Given the description of an element on the screen output the (x, y) to click on. 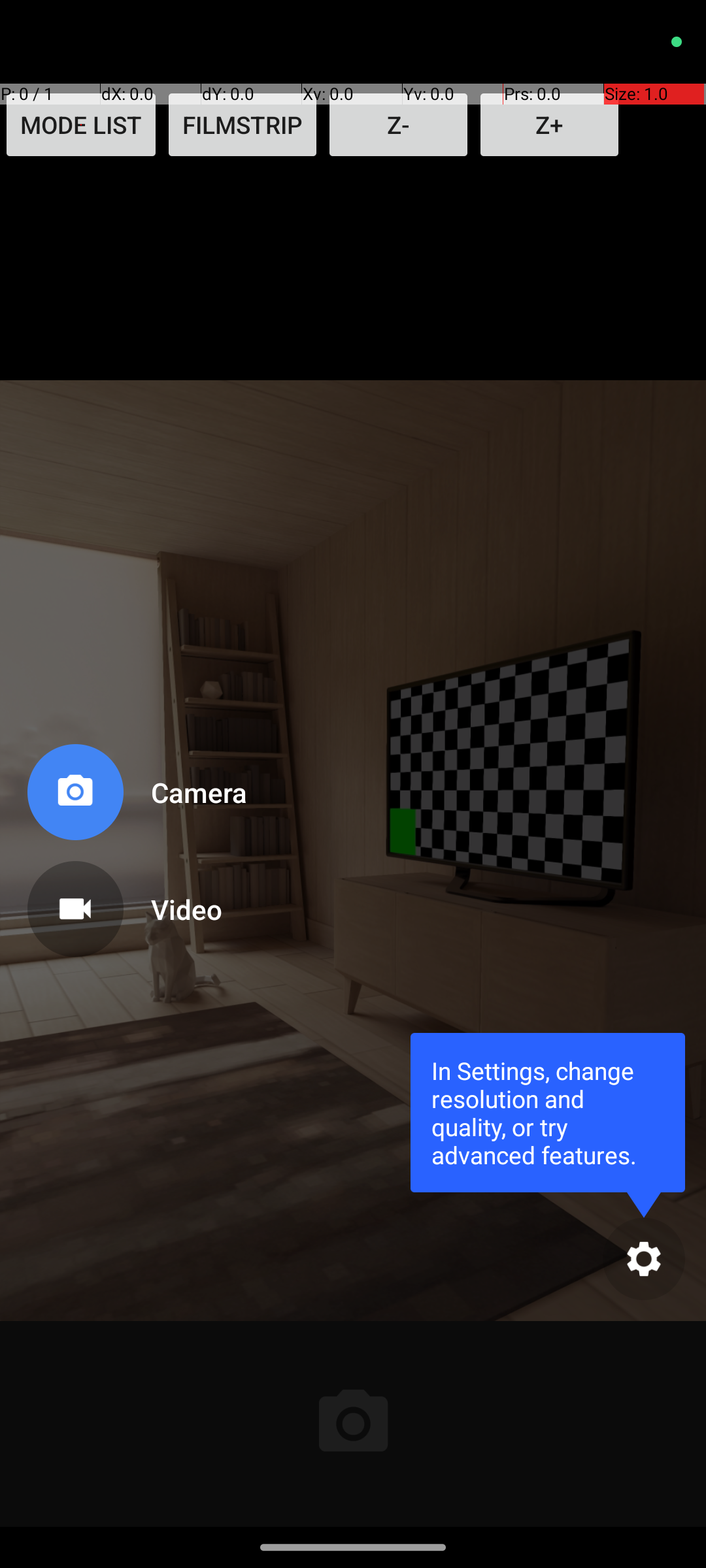
Switch to Camera Mode Element type: android.widget.FrameLayout (134, 797)
Switch to Video Camera Element type: android.widget.FrameLayout (134, 903)
In Settings, change resolution and quality, or try advanced features. Element type: android.widget.TextView (547, 1112)
Camera Element type: android.widget.TextView (185, 792)
Video Element type: android.widget.TextView (185, 909)
